Given the description of an element on the screen output the (x, y) to click on. 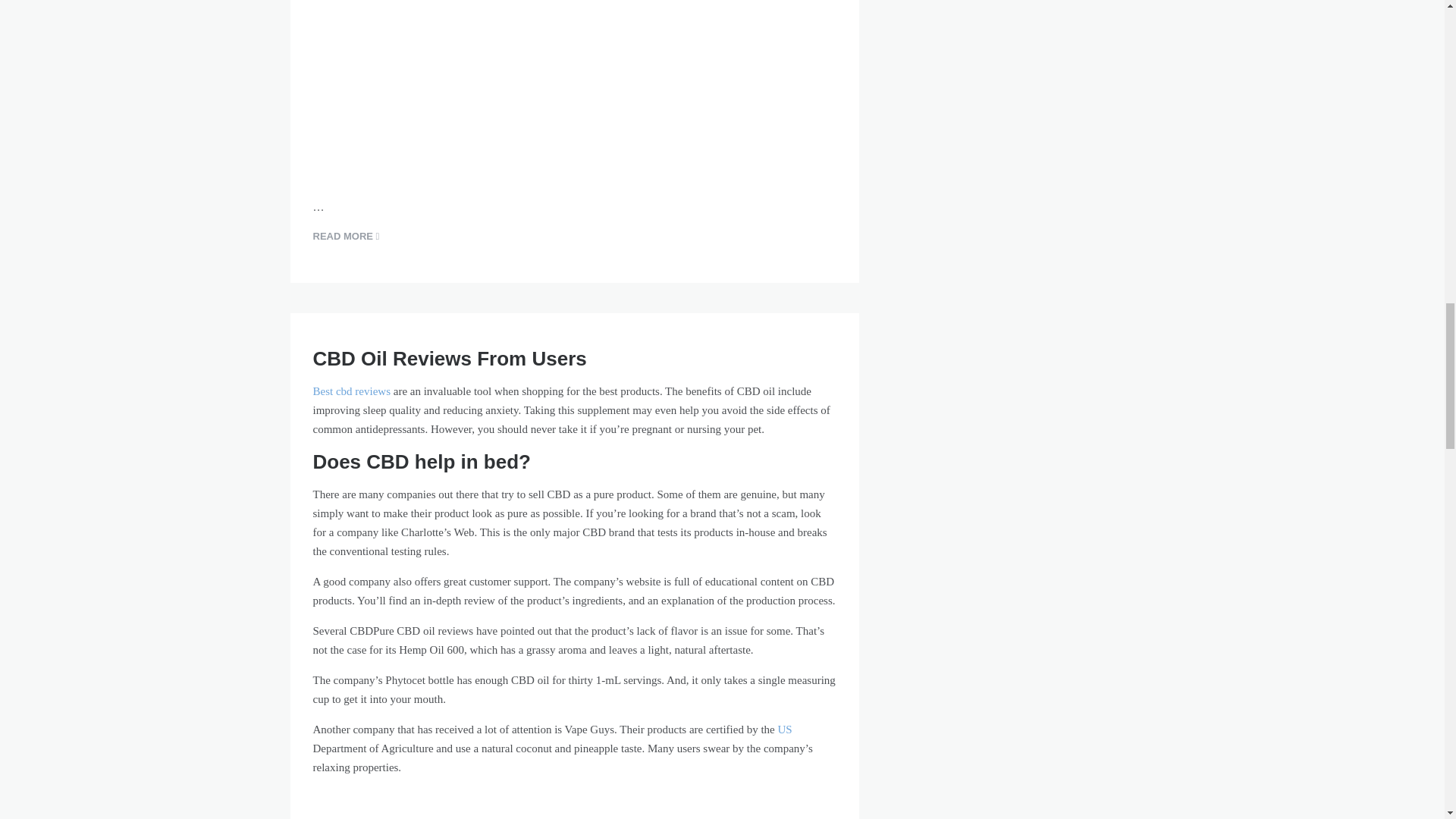
CBD Oil Reviews From Users (449, 358)
US (784, 729)
Best cbd reviews (351, 390)
READ MORE (345, 236)
